Given the description of an element on the screen output the (x, y) to click on. 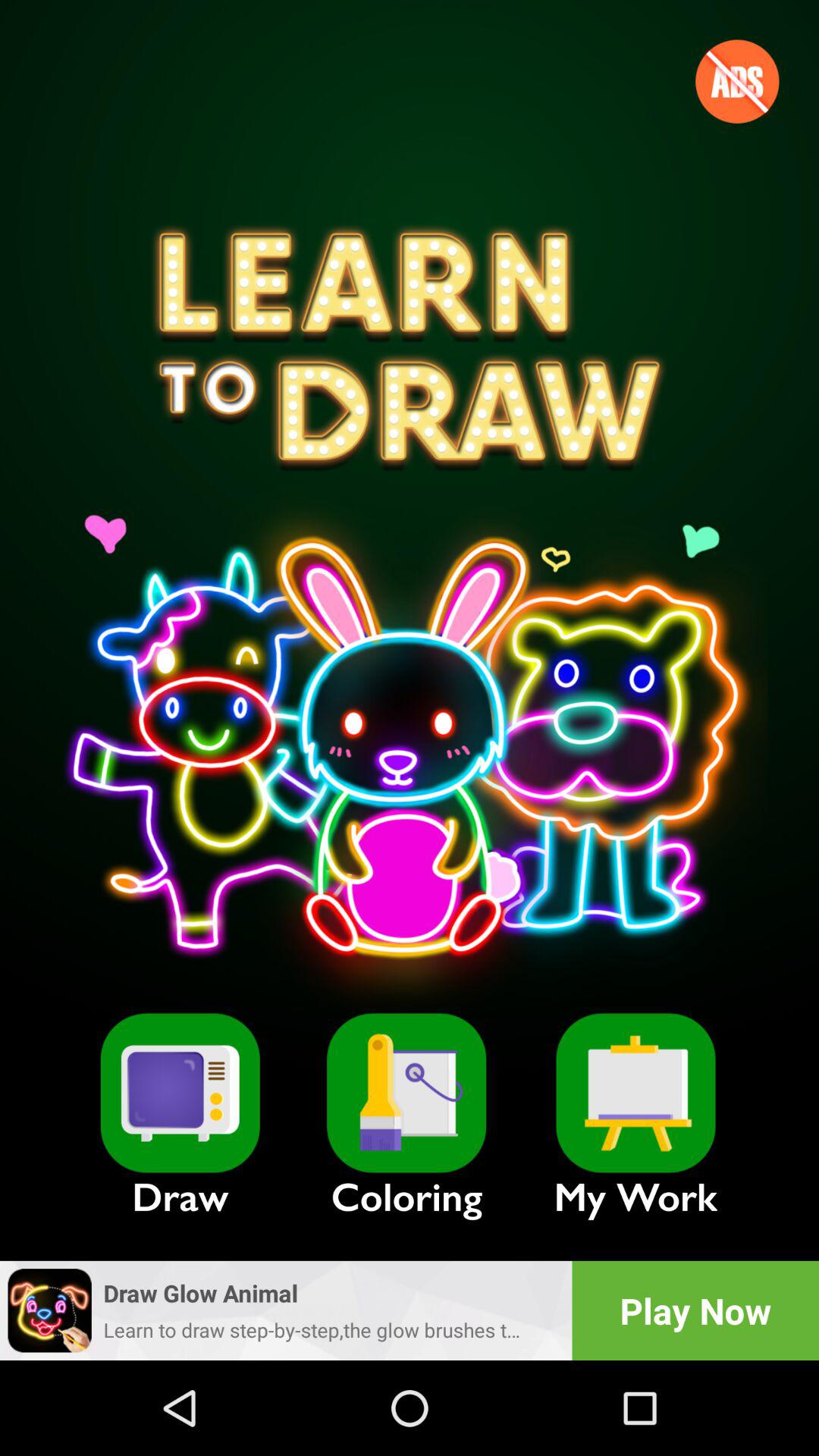
launch item at the top right corner (737, 81)
